Given the description of an element on the screen output the (x, y) to click on. 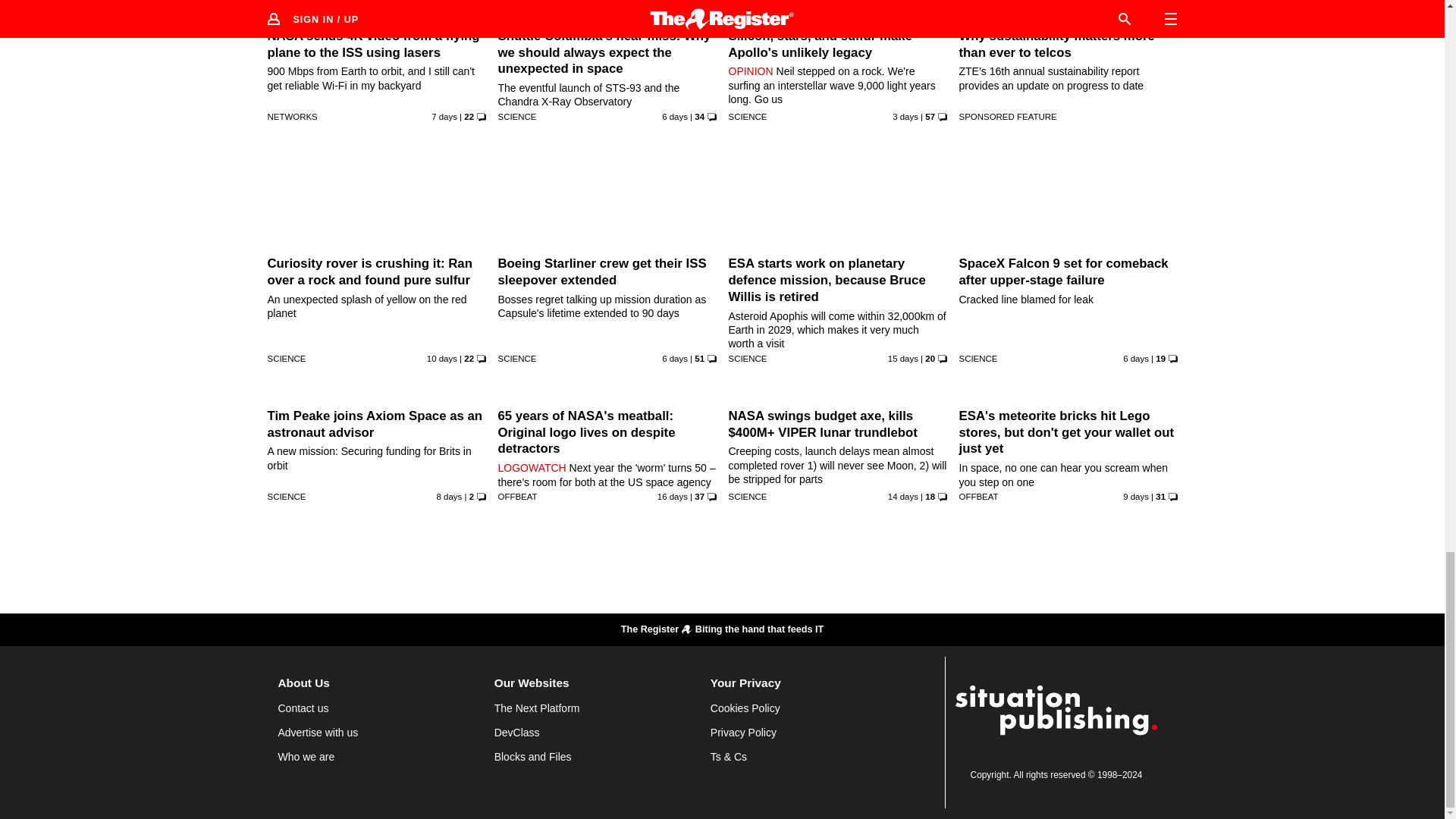
25 Jul 2024 19:2 (443, 116)
29 Jul 2024 8:35 (905, 116)
26 Jul 2024 9:33 (674, 116)
